Given the description of an element on the screen output the (x, y) to click on. 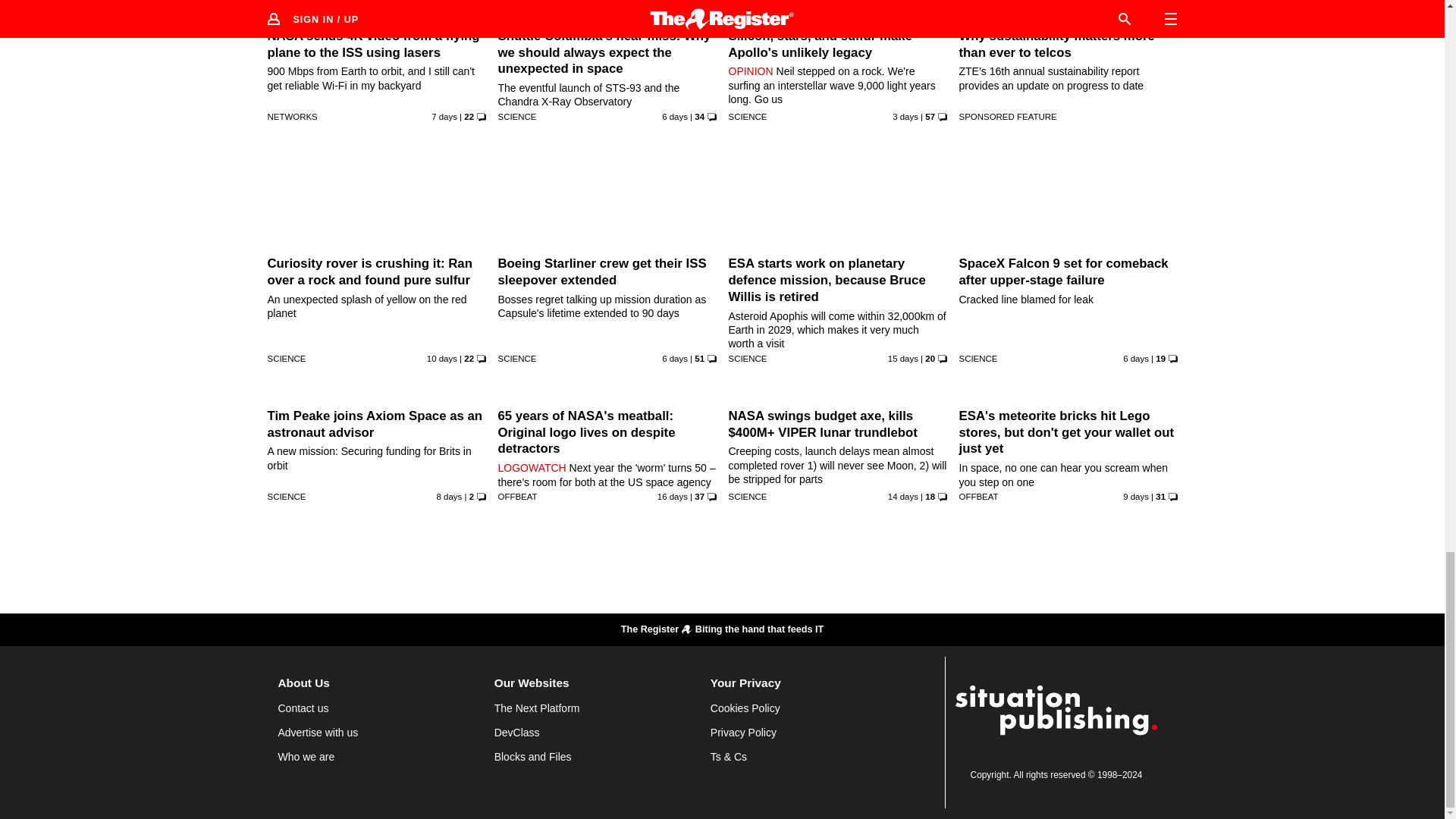
25 Jul 2024 19:2 (443, 116)
29 Jul 2024 8:35 (905, 116)
26 Jul 2024 9:33 (674, 116)
